Given the description of an element on the screen output the (x, y) to click on. 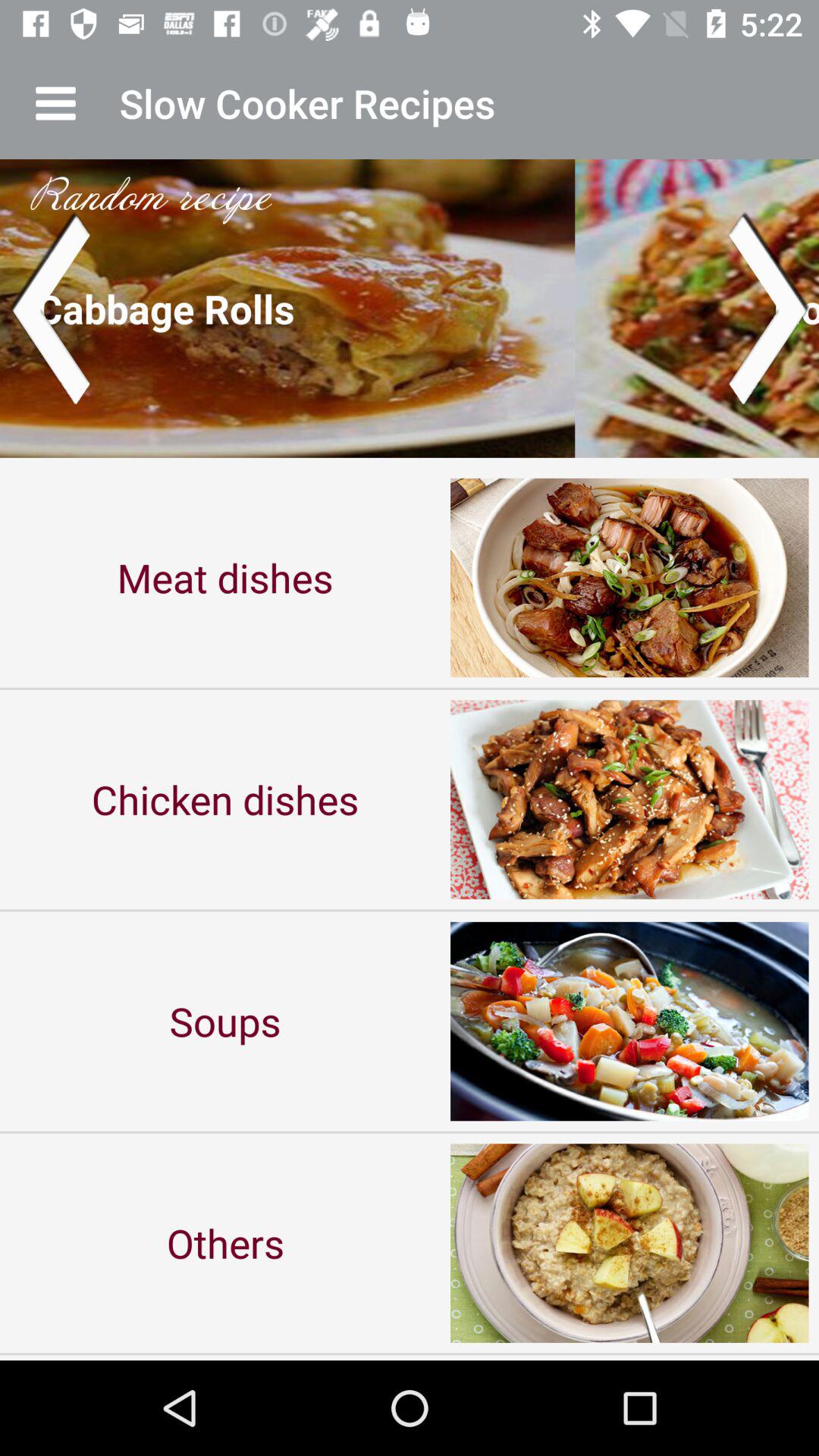
scroll until chicken dishes item (225, 798)
